Given the description of an element on the screen output the (x, y) to click on. 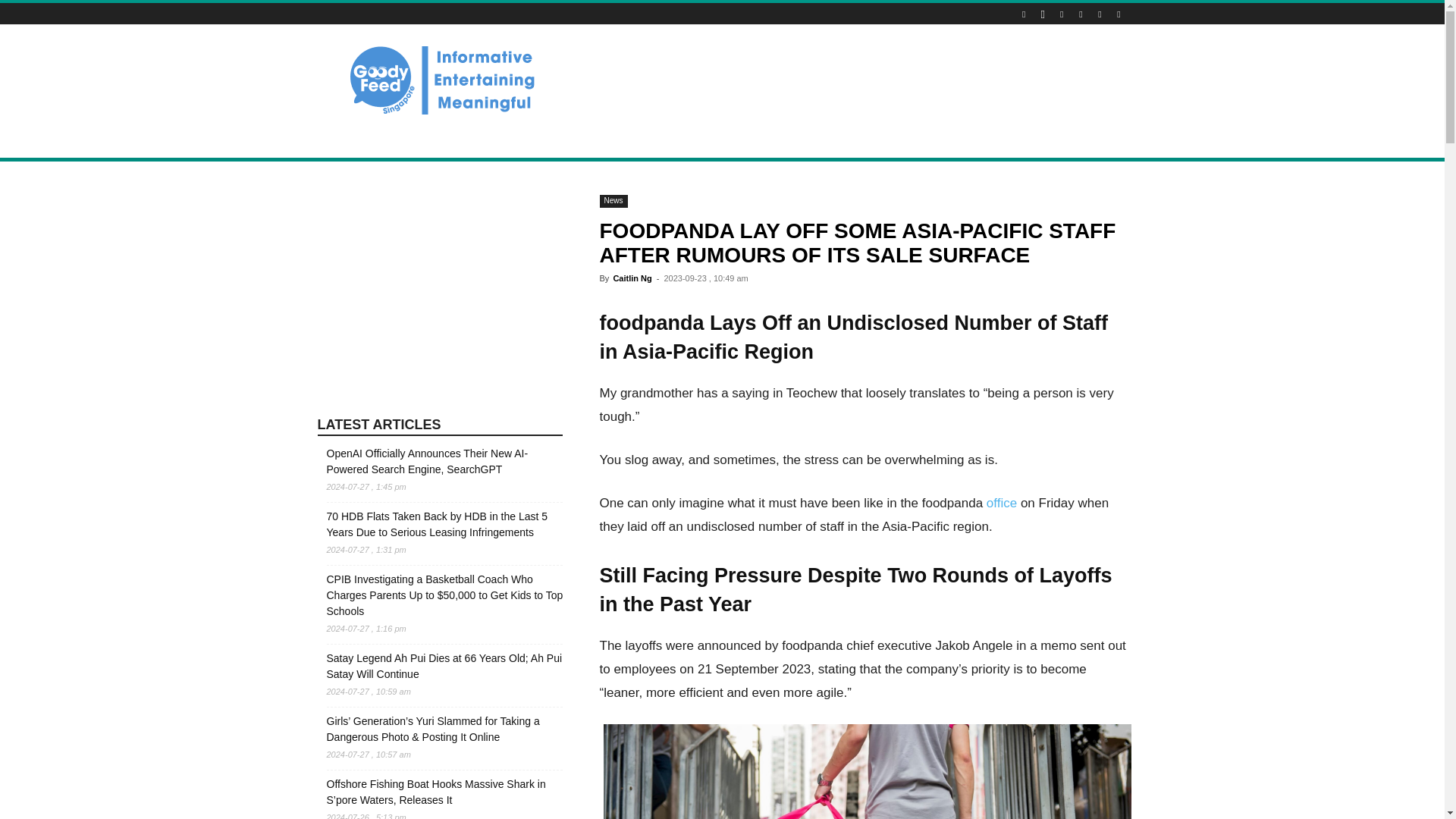
WORK (824, 139)
Youtube (1117, 14)
ENTERTAINMENT (584, 139)
Instagram (1042, 14)
LIFESTYLE (400, 139)
NEWS (341, 139)
DEALS (461, 139)
Twitter (1099, 14)
LAUGHS (663, 139)
SPOOKS (724, 139)
Linkedin (1061, 14)
Facebook (1023, 14)
FOOD (511, 139)
TikTok (1080, 14)
TECH (776, 139)
